Given the description of an element on the screen output the (x, y) to click on. 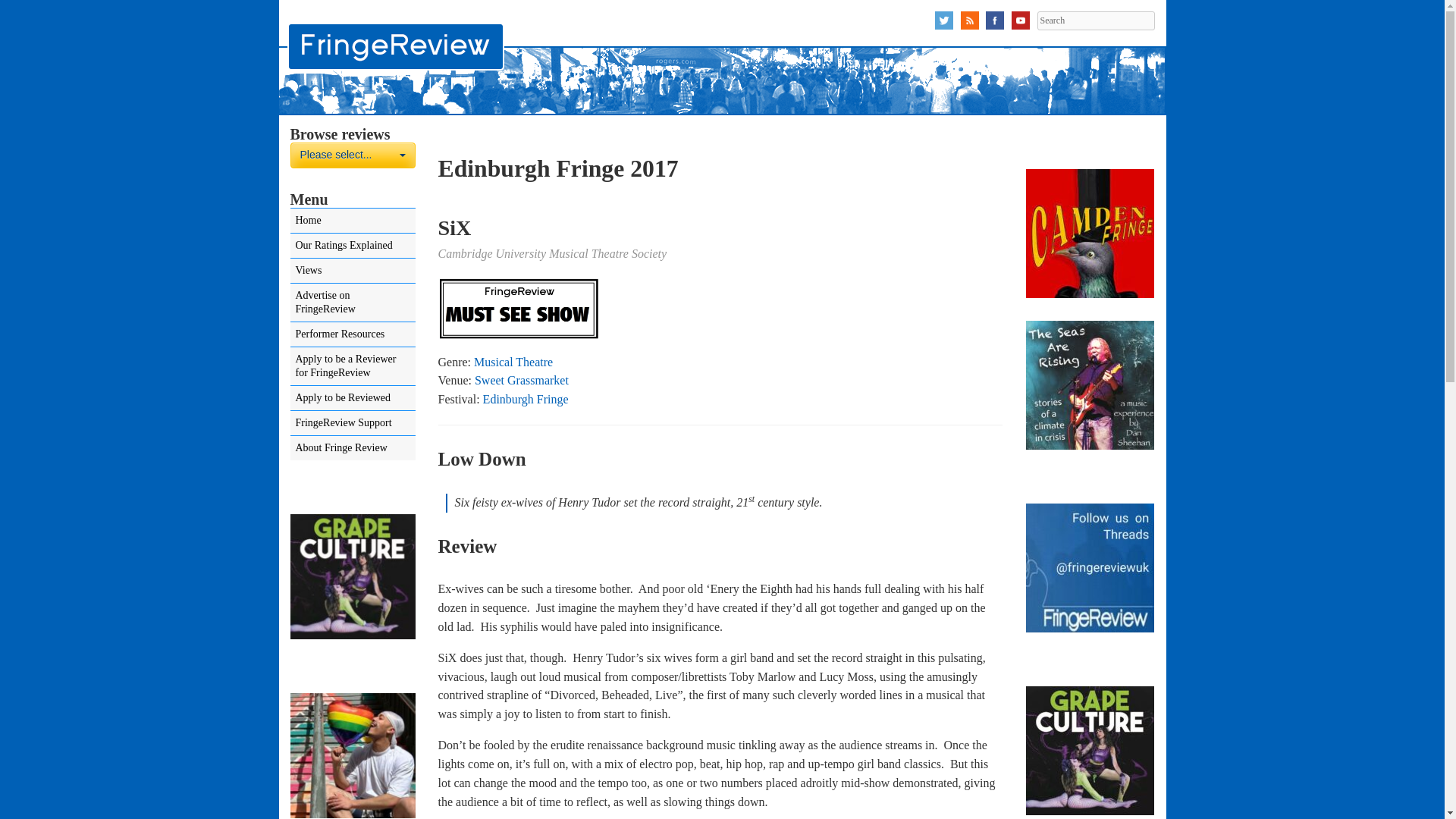
Search (1095, 20)
Search for: (1095, 20)
Search (1095, 20)
Please select... (351, 155)
